Given the description of an element on the screen output the (x, y) to click on. 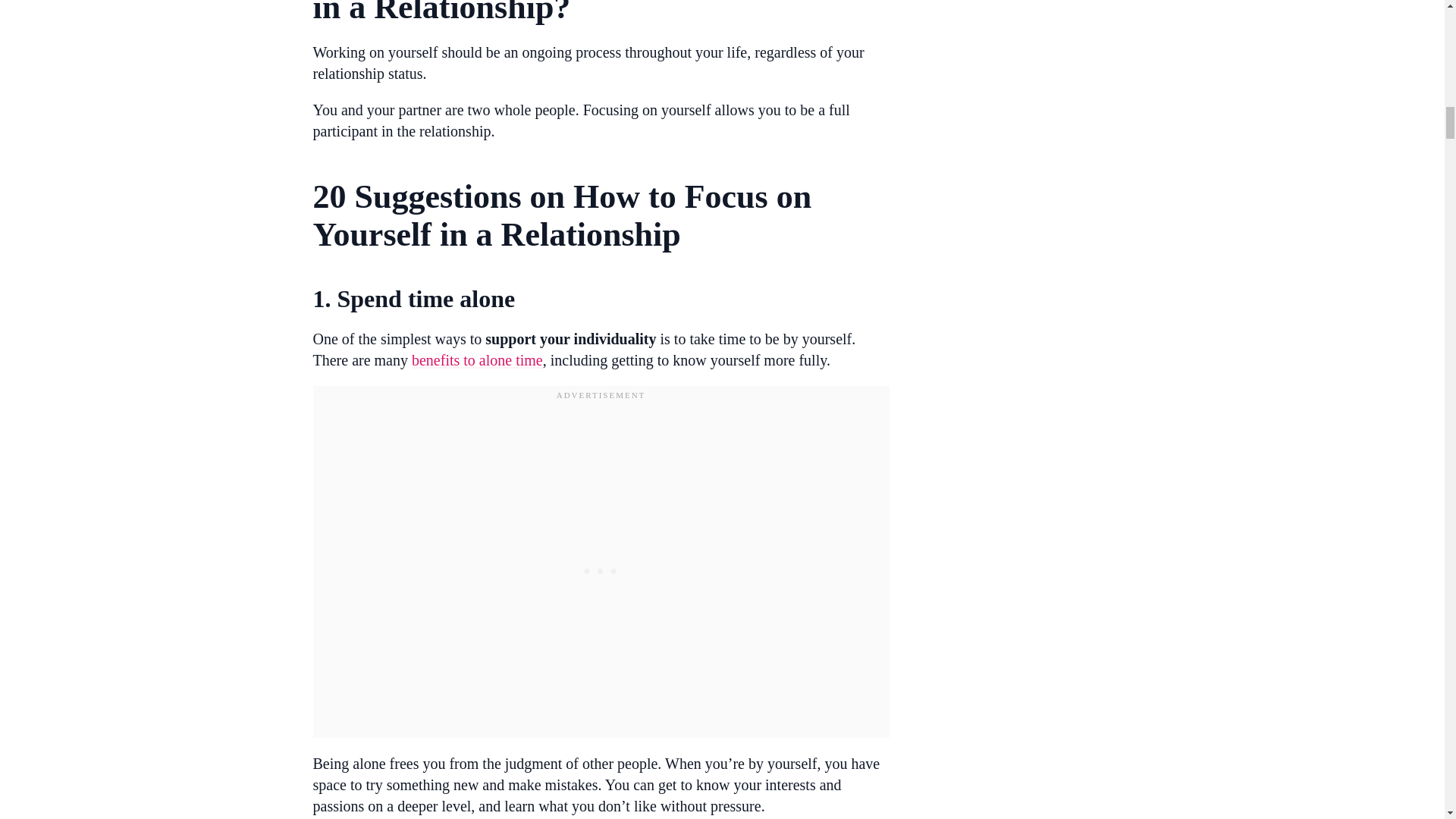
benefits to alone time (477, 360)
